Given the description of an element on the screen output the (x, y) to click on. 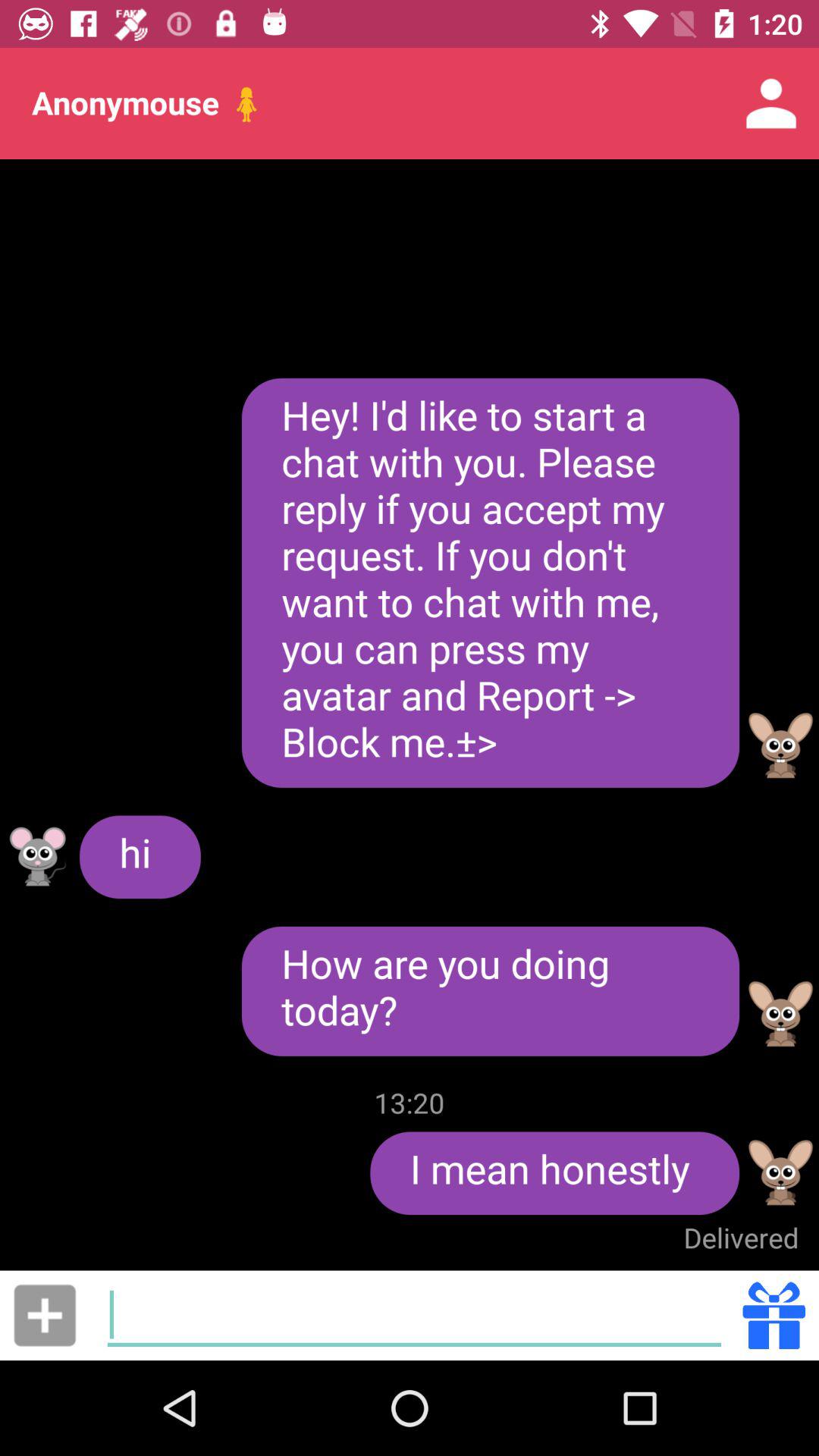
turn on the icon above the how are you item (490, 582)
